Given the description of an element on the screen output the (x, y) to click on. 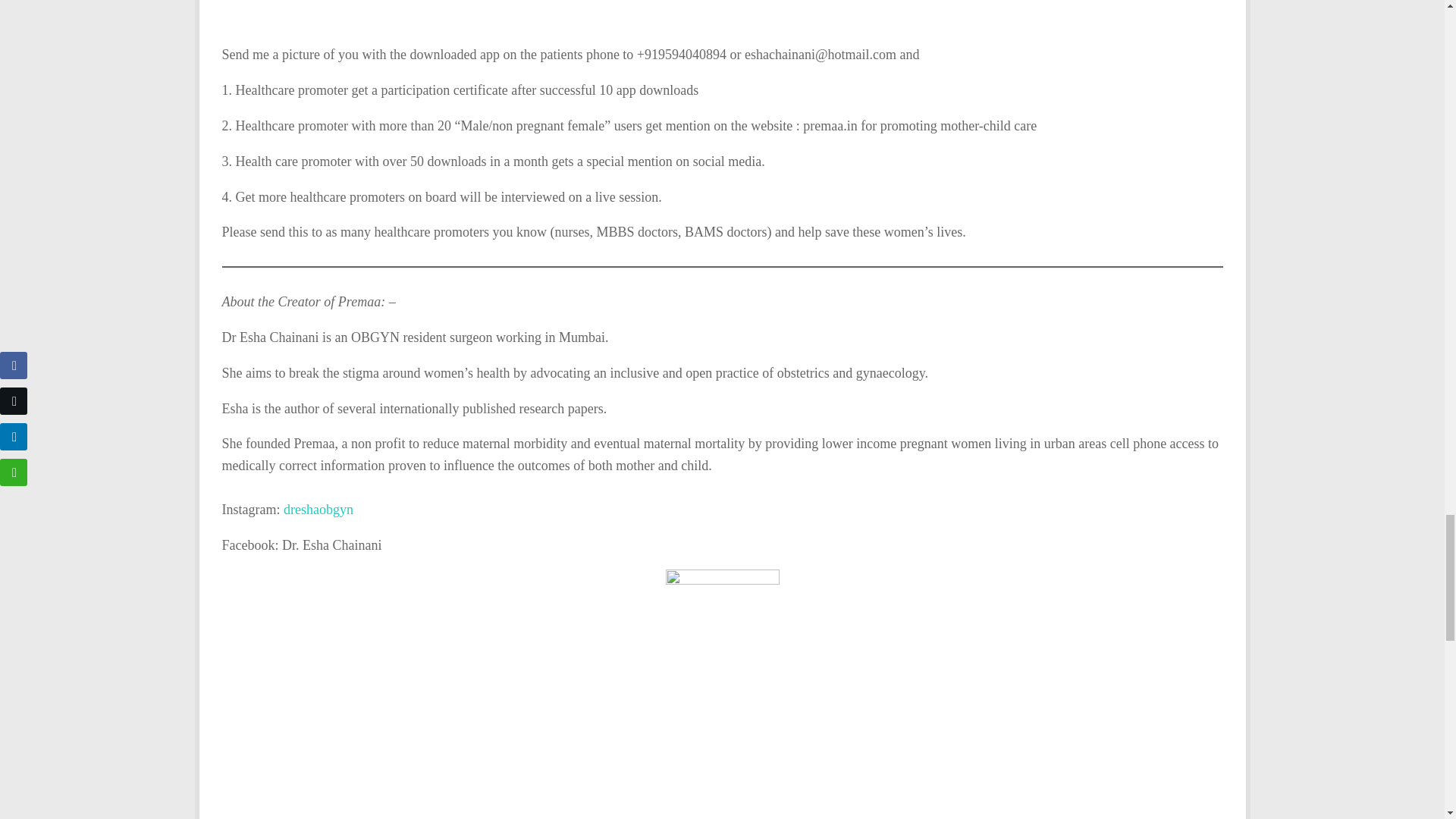
dreshaobgyn (318, 509)
